Given the description of an element on the screen output the (x, y) to click on. 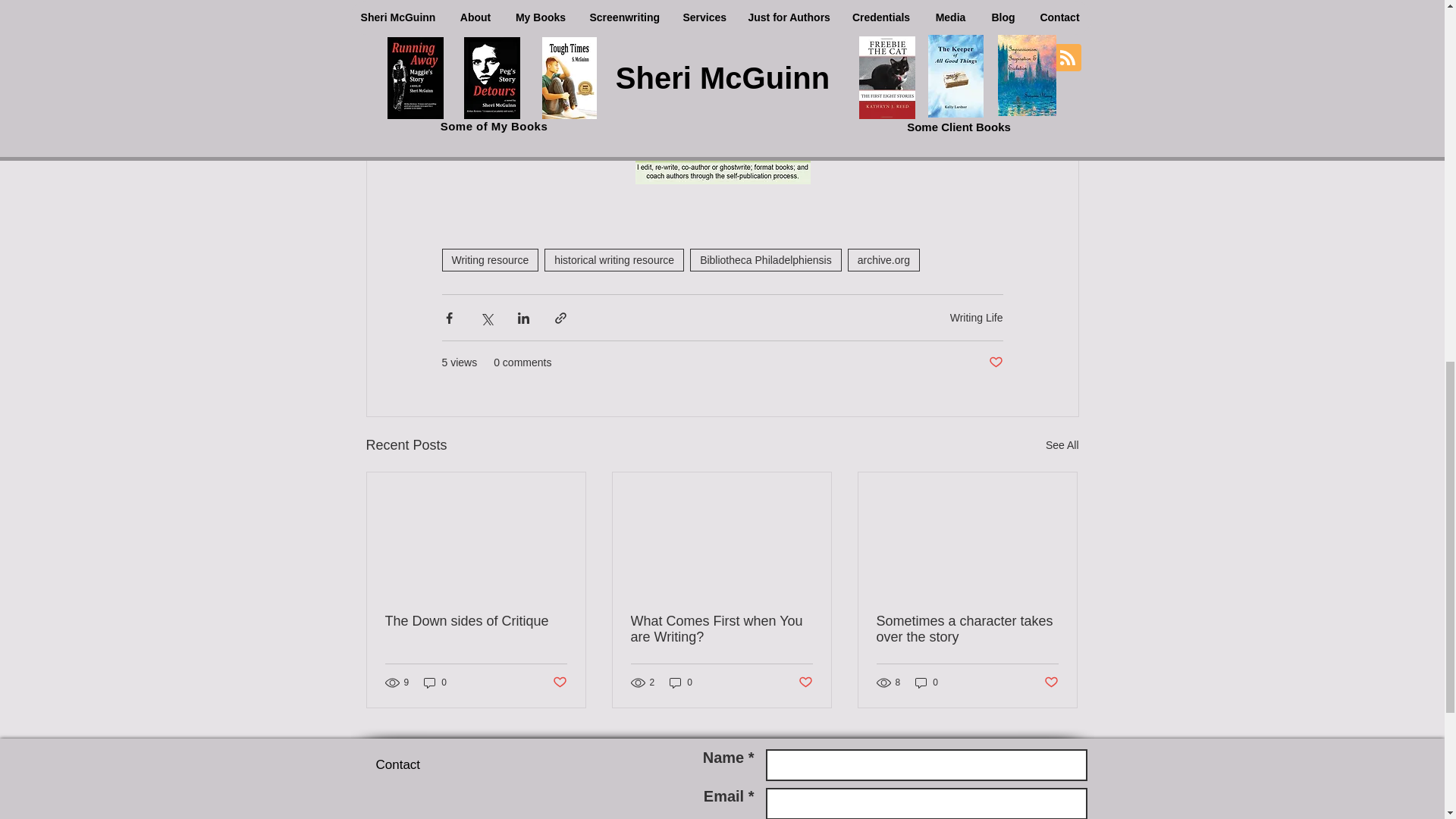
Post not marked as liked (995, 362)
Writing Life (976, 317)
0 (435, 682)
The Down sides of Critique (476, 621)
Bibliotheca Philadelphiensis (765, 259)
archive.org (883, 259)
Writing resource (489, 259)
See All (1061, 445)
historical writing resource (614, 259)
